Given the description of an element on the screen output the (x, y) to click on. 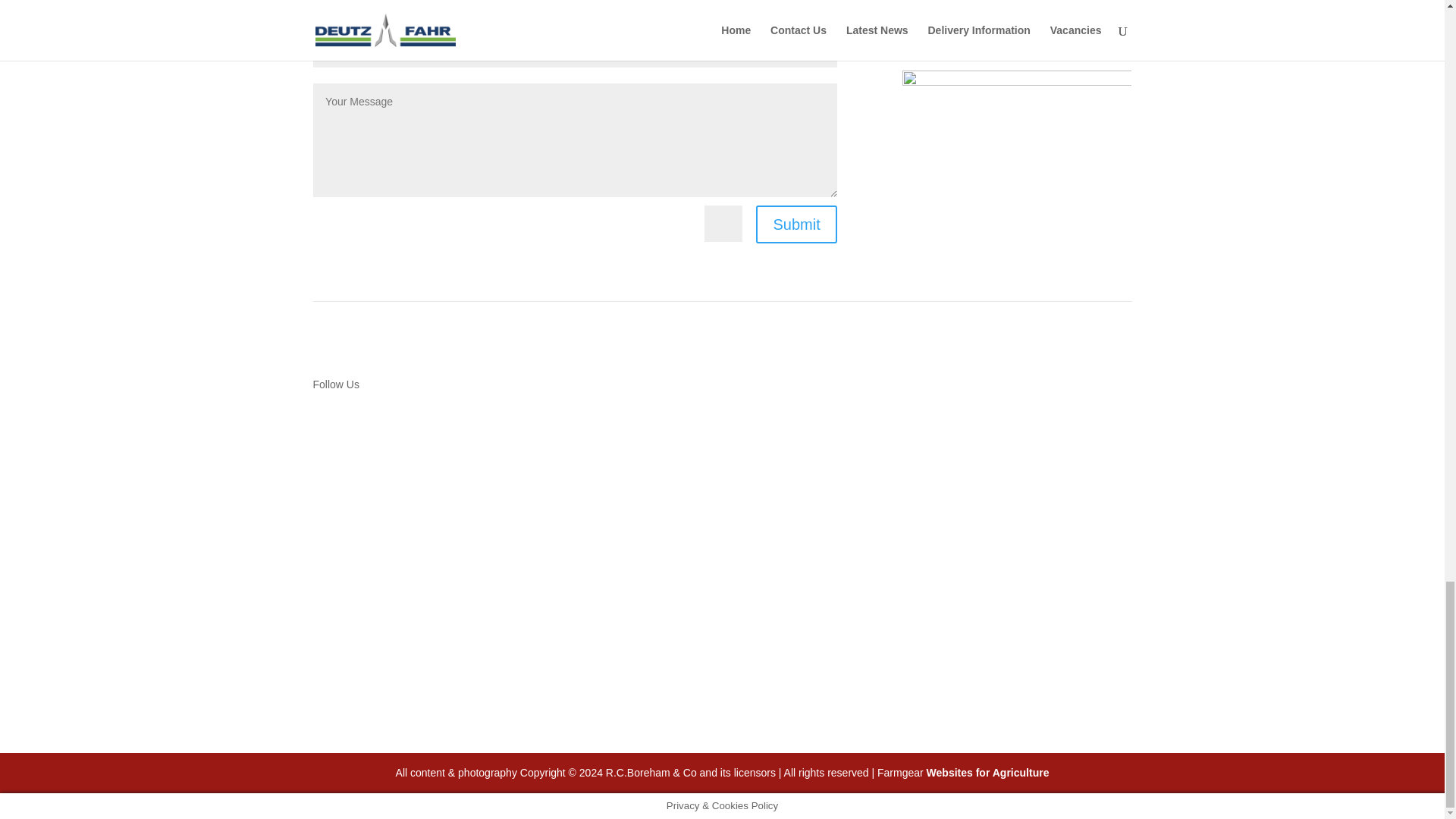
Follow on X (324, 484)
Only numbers allowed. (575, 49)
Follow on google-plus (384, 484)
Follow on Facebook (354, 484)
